Given the description of an element on the screen output the (x, y) to click on. 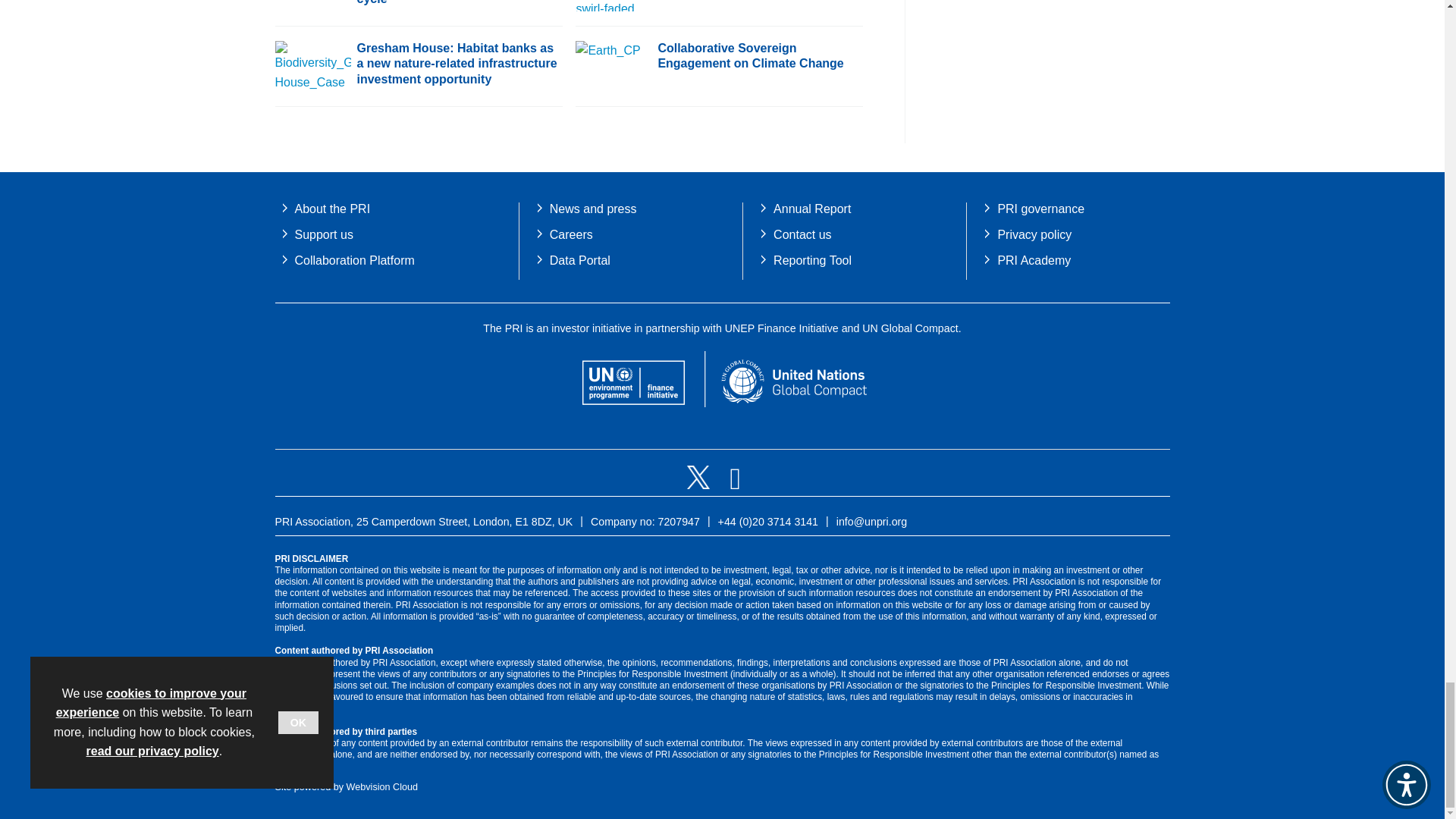
Follow PRI on LinkedIn (735, 484)
Follow PRI on Twitter (700, 484)
